Given the description of an element on the screen output the (x, y) to click on. 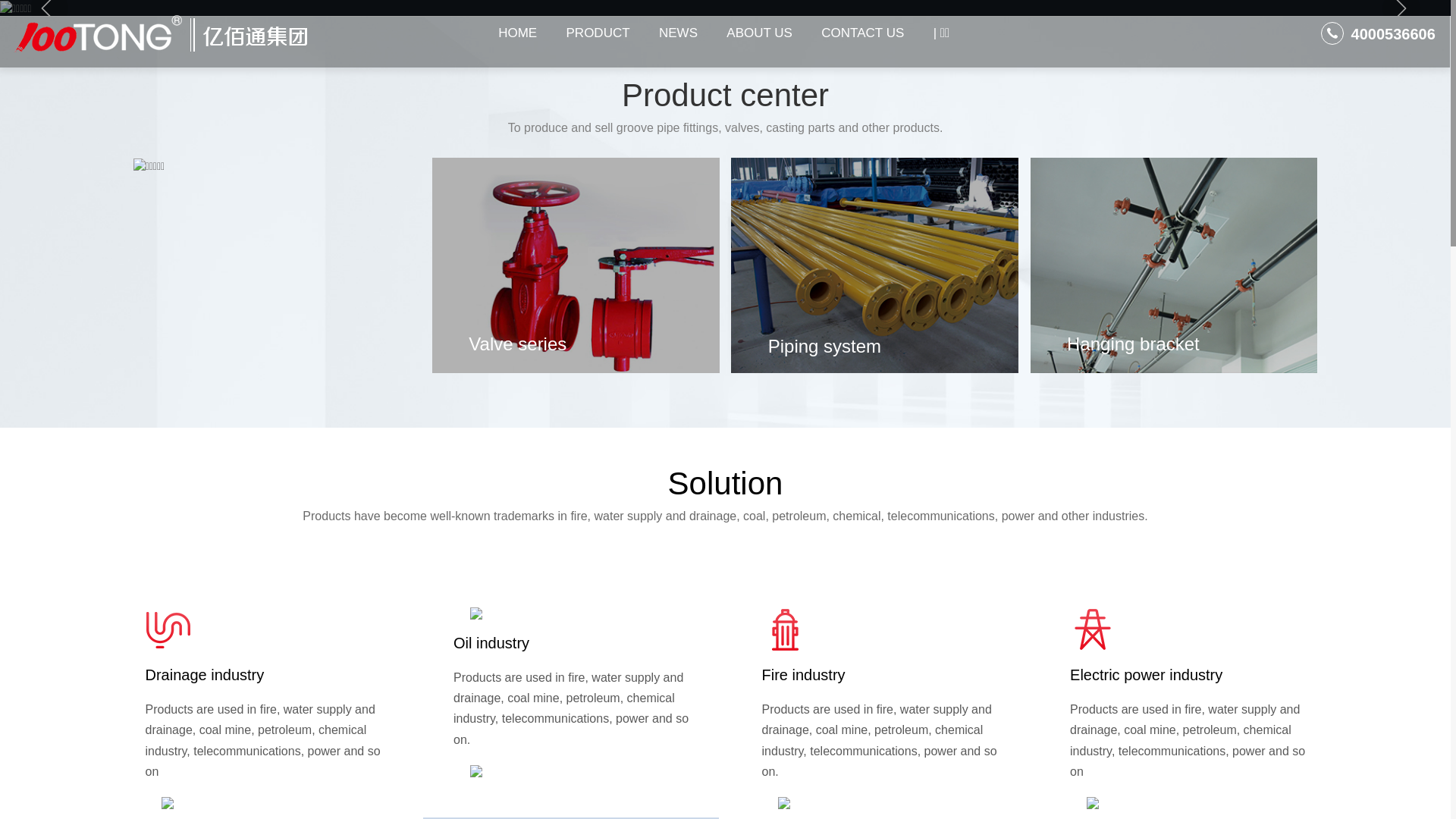
NEWS Element type: text (677, 33)
CONTACT US Element type: text (862, 33)
4000536606 Element type: text (1378, 33)
ABOUT US Element type: text (759, 33)
PRODUCT Element type: text (597, 33)
Piping system Element type: text (824, 345)
Hanging bracket Element type: text (1132, 343)
Valve series Element type: text (517, 343)
HOME Element type: text (517, 33)
